Given the description of an element on the screen output the (x, y) to click on. 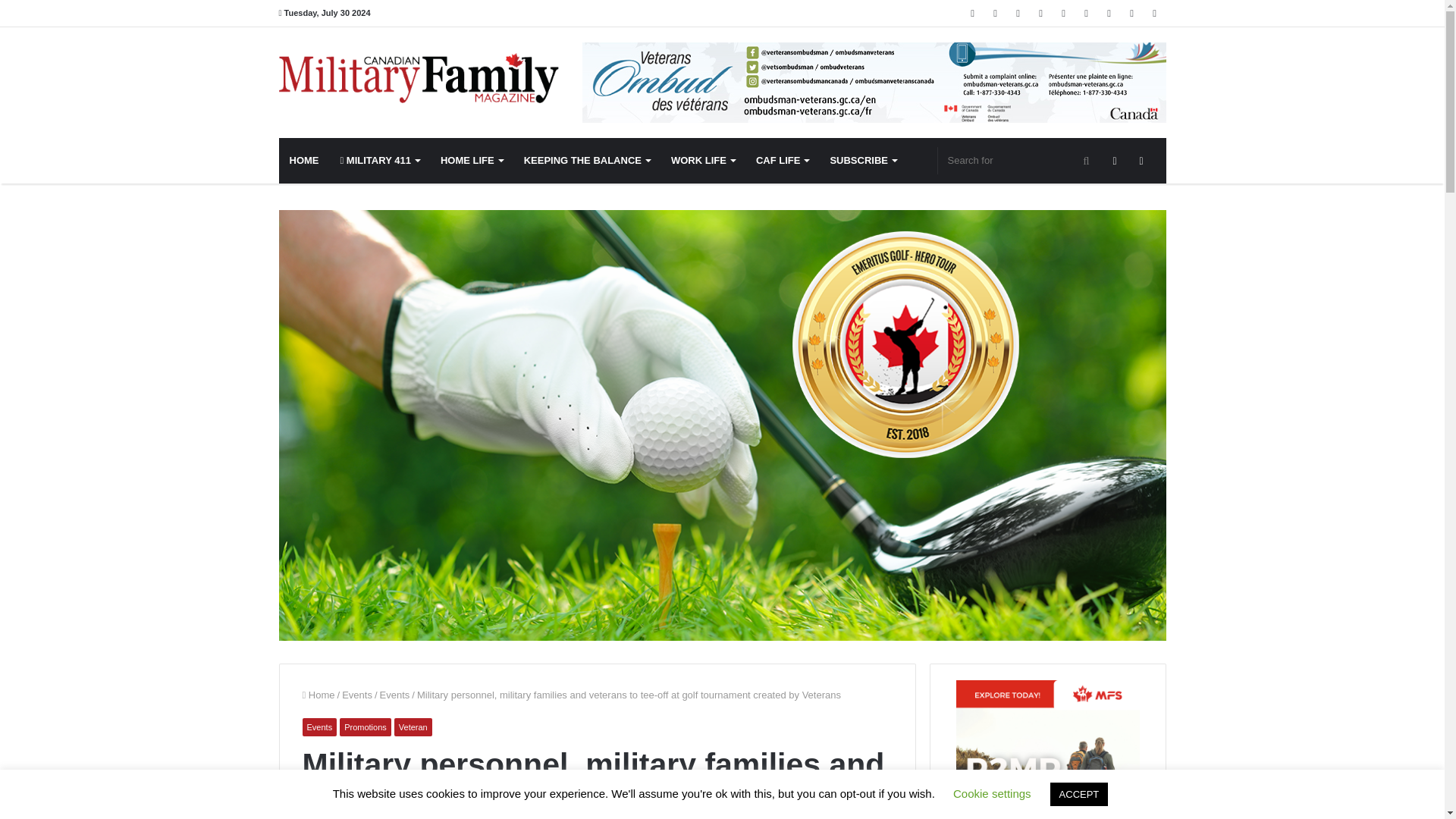
Canadian Military Family Magazine (419, 78)
WORK LIFE (703, 160)
MILITARY 411 (379, 160)
Search for (1018, 160)
HOME (304, 160)
HOME LIFE (471, 160)
KEEPING THE BALANCE (587, 160)
